Given the description of an element on the screen output the (x, y) to click on. 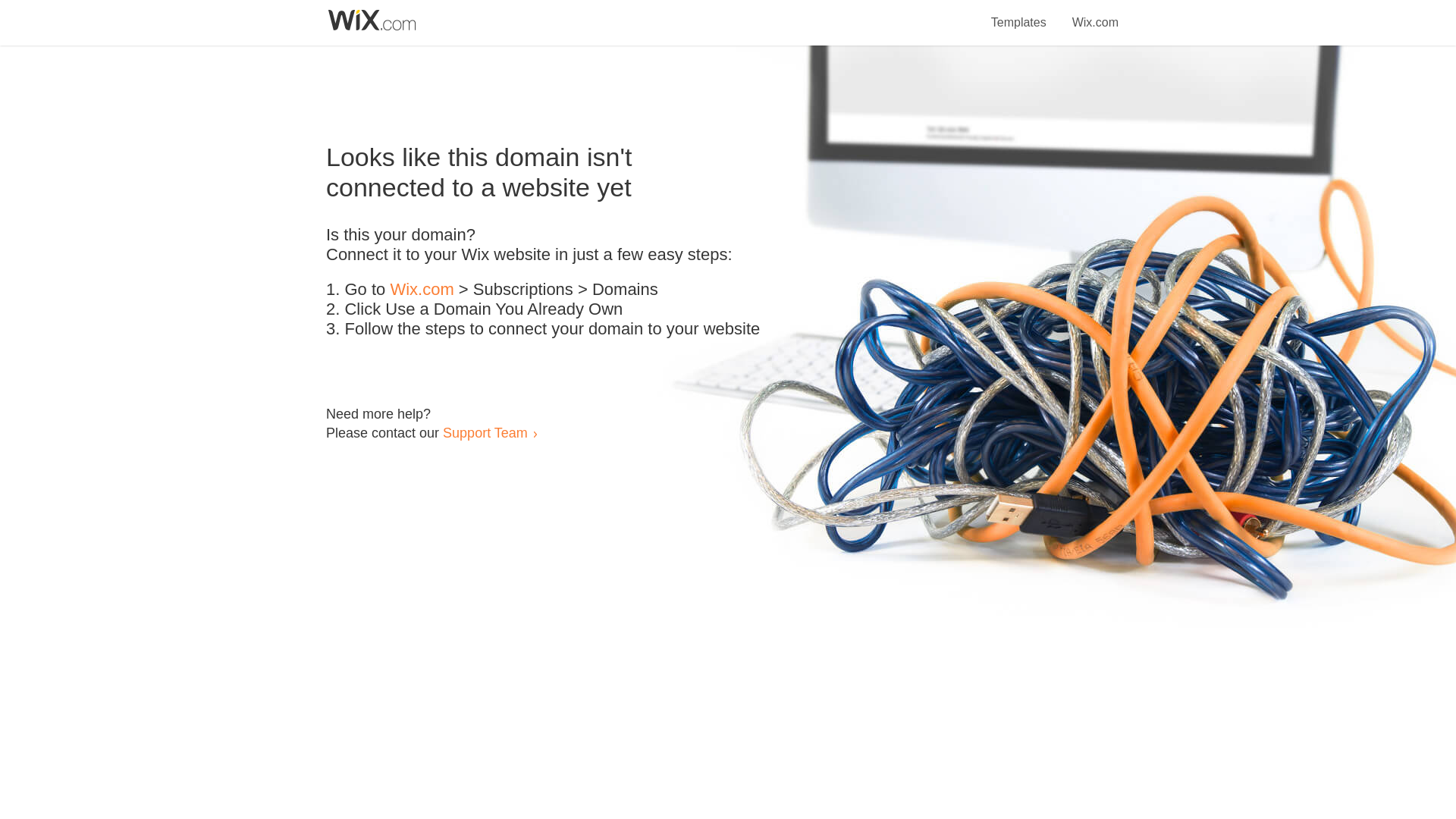
Wix.com (1095, 14)
Templates (1018, 14)
Wix.com (421, 289)
Support Team (484, 432)
